Given the description of an element on the screen output the (x, y) to click on. 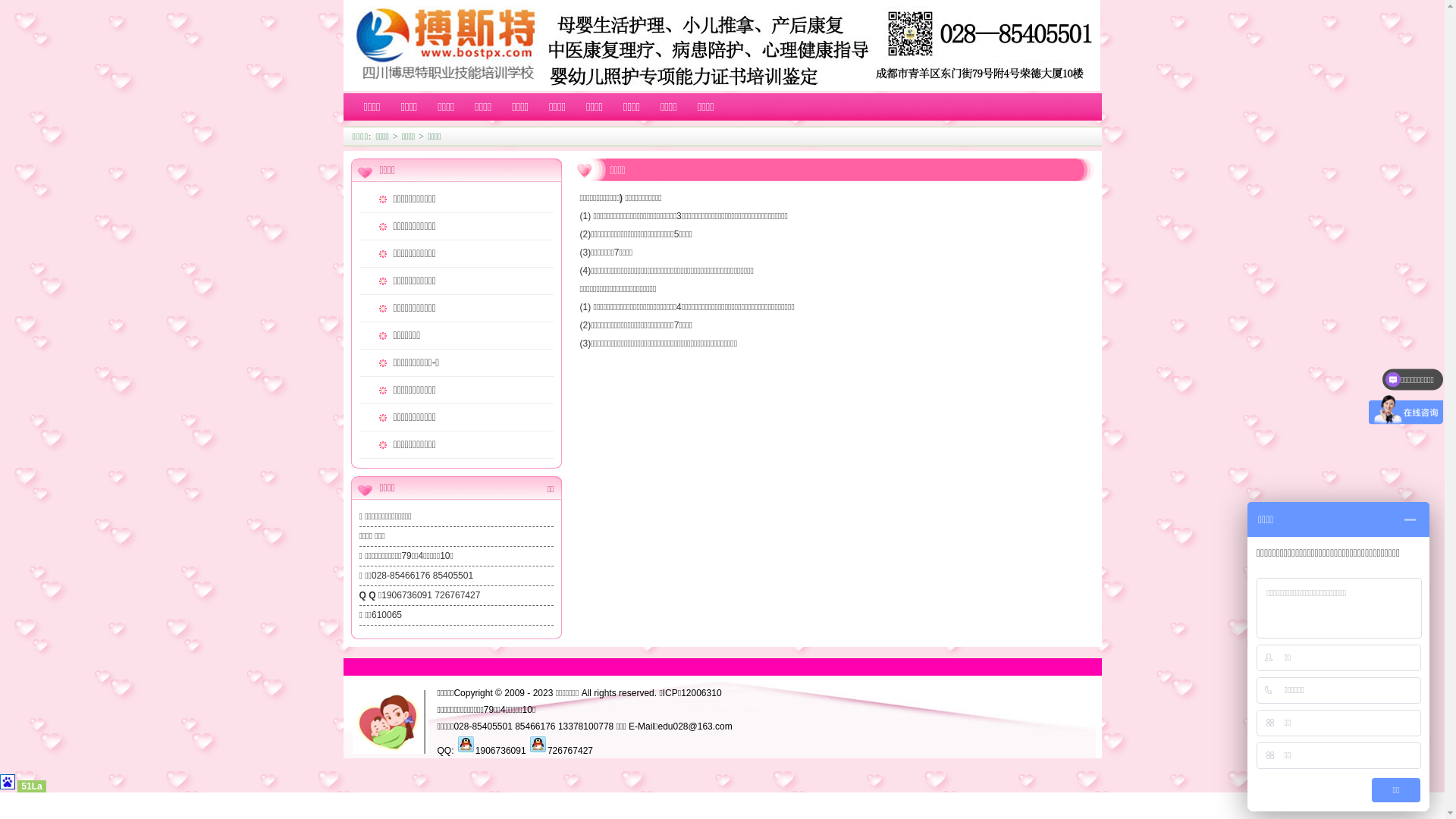
51La Element type: text (31, 786)
